Given the description of an element on the screen output the (x, y) to click on. 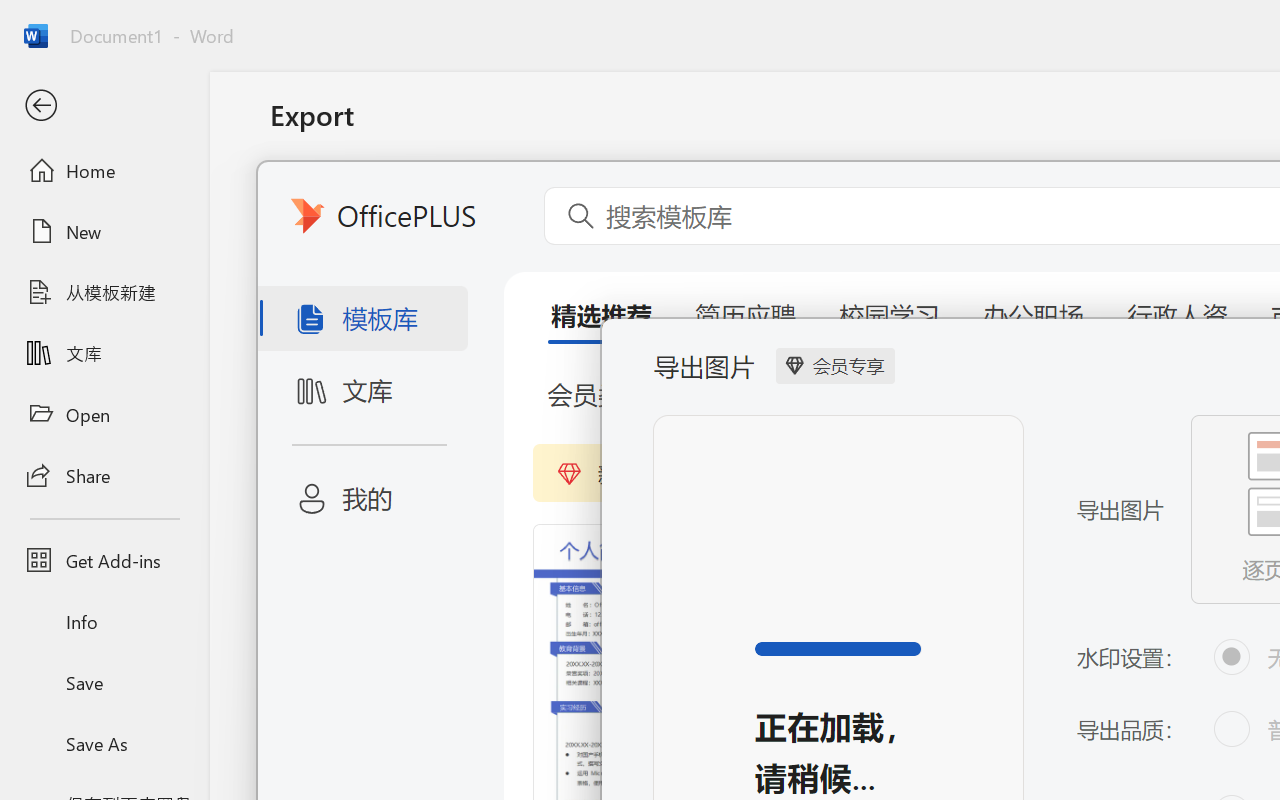
Tools & programs (869, 132)
Accountability (735, 132)
Who is my administrator? - Google Account Help (648, 22)
